Given the description of an element on the screen output the (x, y) to click on. 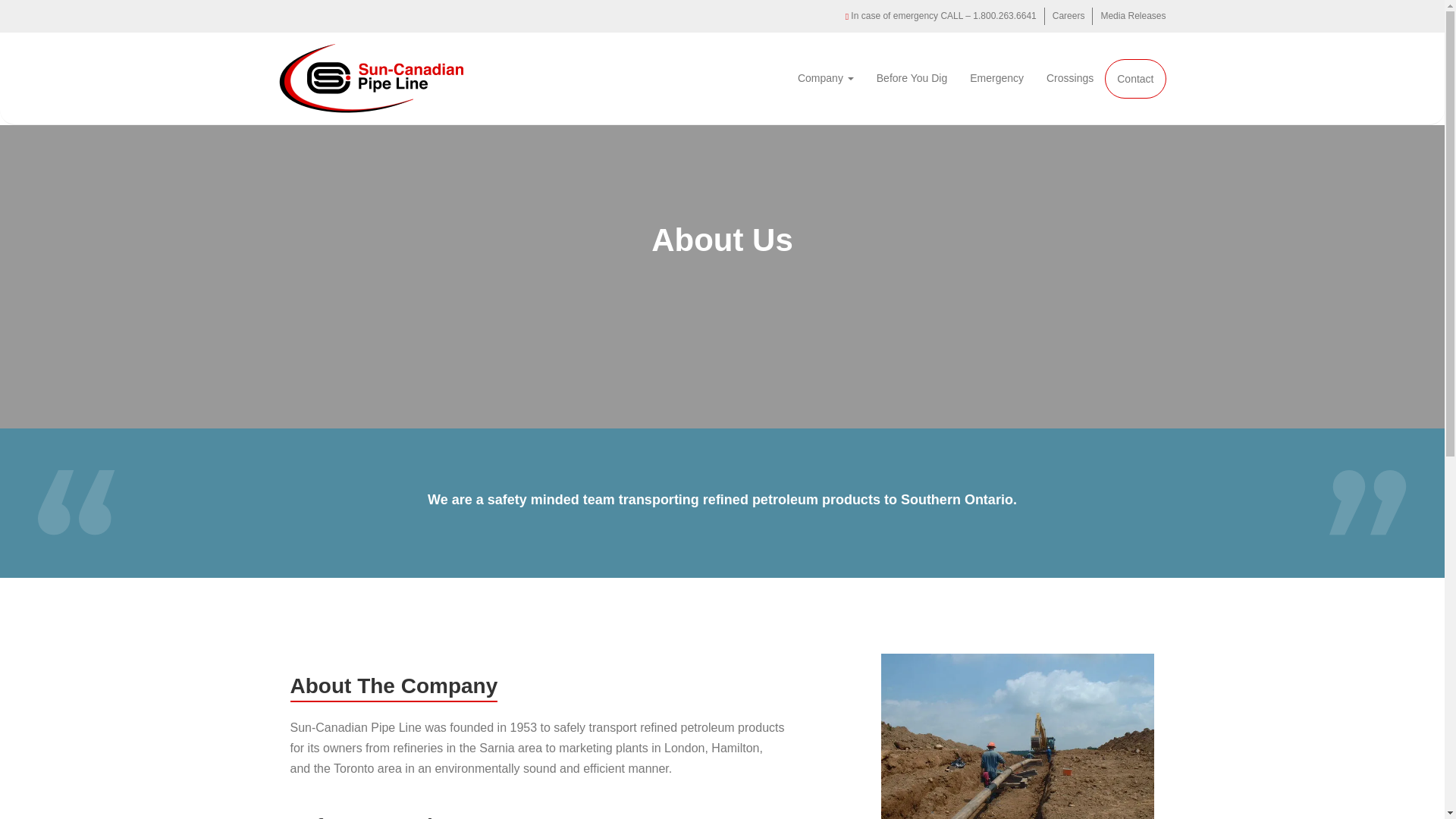
 In case of emergency CALL - 1.800.263.6641 (940, 16)
Emergency (996, 77)
Sun Canadian Pipeline Logo (371, 78)
Careers (1068, 16)
Contact (1135, 78)
Crossings (1070, 77)
Company (825, 77)
Careers (1068, 16)
Company (825, 77)
Crossings (1070, 77)
Before You Dig (911, 77)
Before You Dig (911, 77)
Contact (1135, 78)
Emergency (996, 77)
Media Releases (1133, 16)
